Given the description of an element on the screen output the (x, y) to click on. 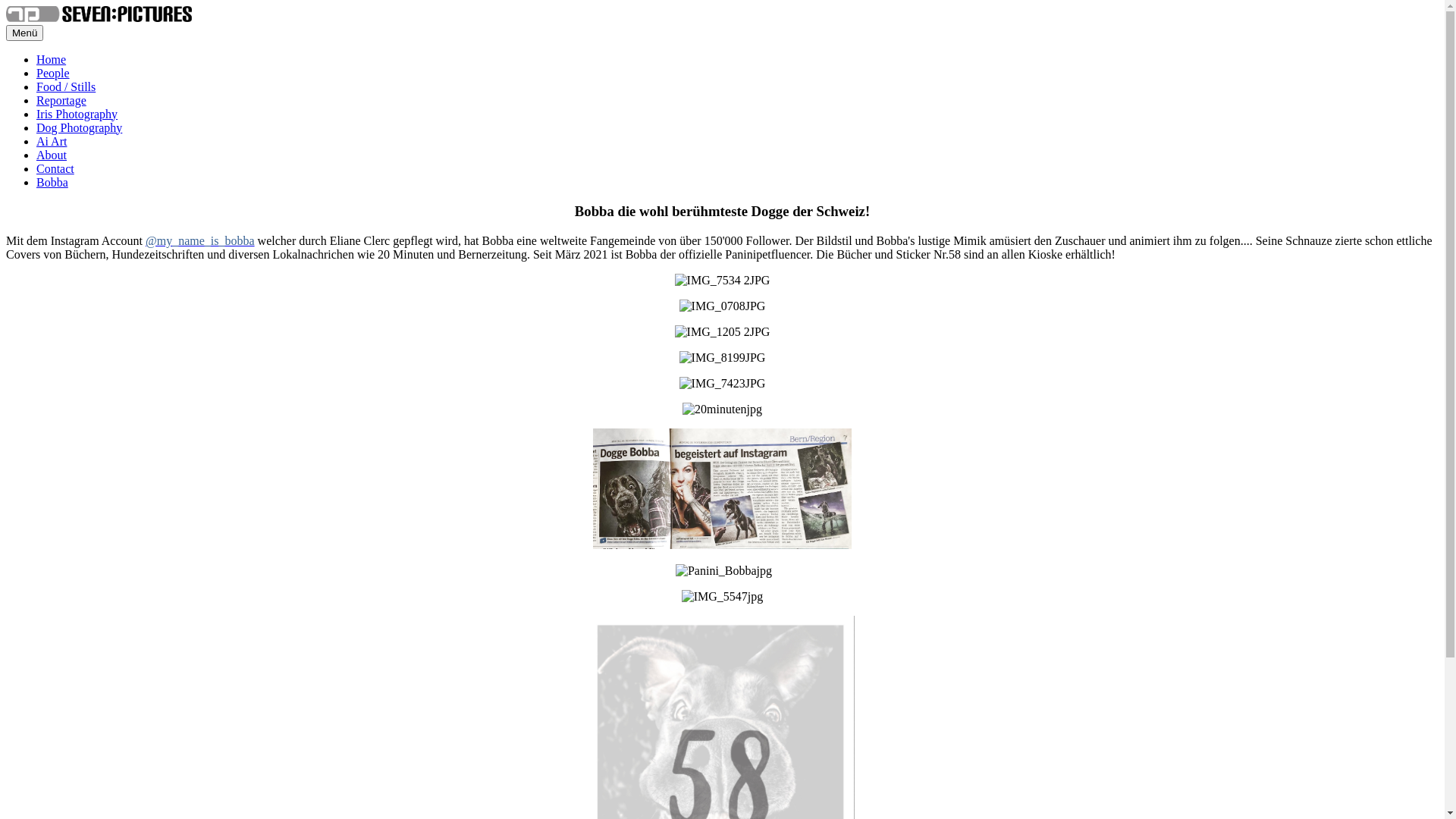
About Element type: text (51, 154)
@my_name_is_bobba Element type: text (199, 240)
Food / Stills Element type: text (65, 86)
People Element type: text (52, 72)
Ai Art Element type: text (51, 140)
logo Element type: hover (98, 13)
Home Element type: text (50, 59)
Dog Photography Element type: text (79, 127)
Contact Element type: text (55, 168)
Reportage Element type: text (61, 100)
Bobba Element type: text (52, 181)
Iris Photography Element type: text (76, 113)
